Given the description of an element on the screen output the (x, y) to click on. 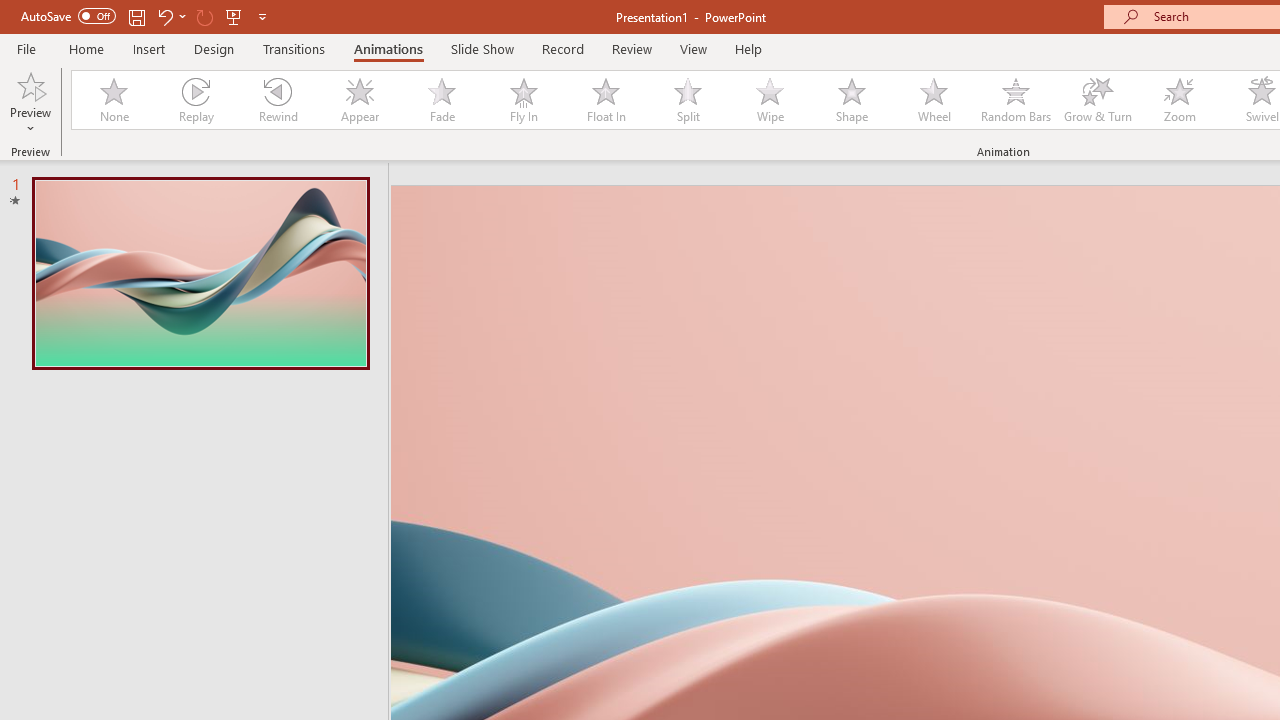
Random Bars (1016, 100)
Shape (852, 100)
None (113, 100)
Split (687, 100)
Wipe (770, 100)
Grow & Turn (1098, 100)
